Given the description of an element on the screen output the (x, y) to click on. 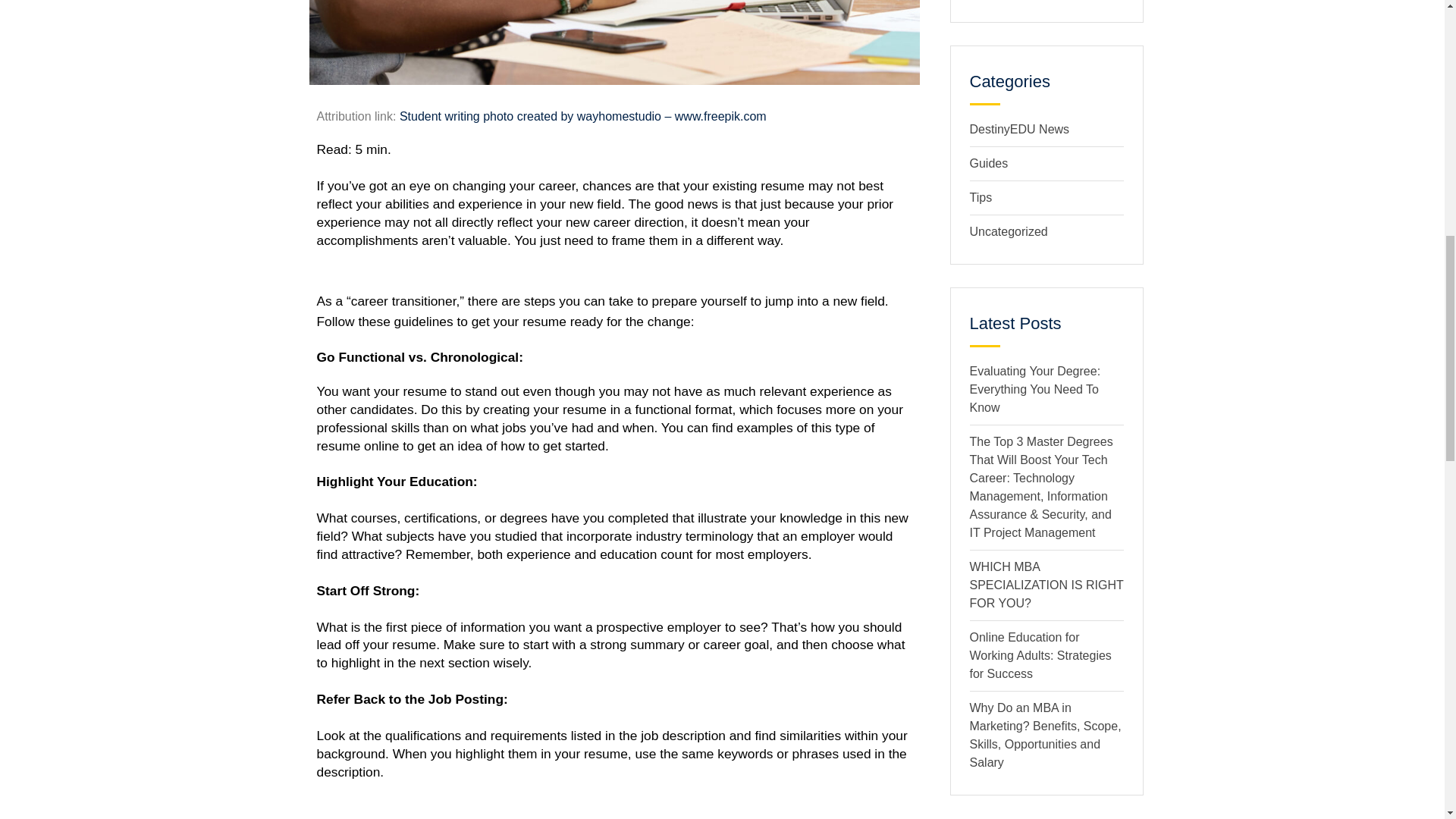
Guides (988, 163)
Evaluating Your Degree: Everything You Need To Know (1034, 389)
WHICH MBA SPECIALIZATION IS RIGHT FOR YOU? (1045, 584)
Tips (980, 196)
Online Education for Working Adults: Strategies for Success (1039, 655)
Uncategorized (1007, 231)
DestinyEDU News (1018, 128)
